Given the description of an element on the screen output the (x, y) to click on. 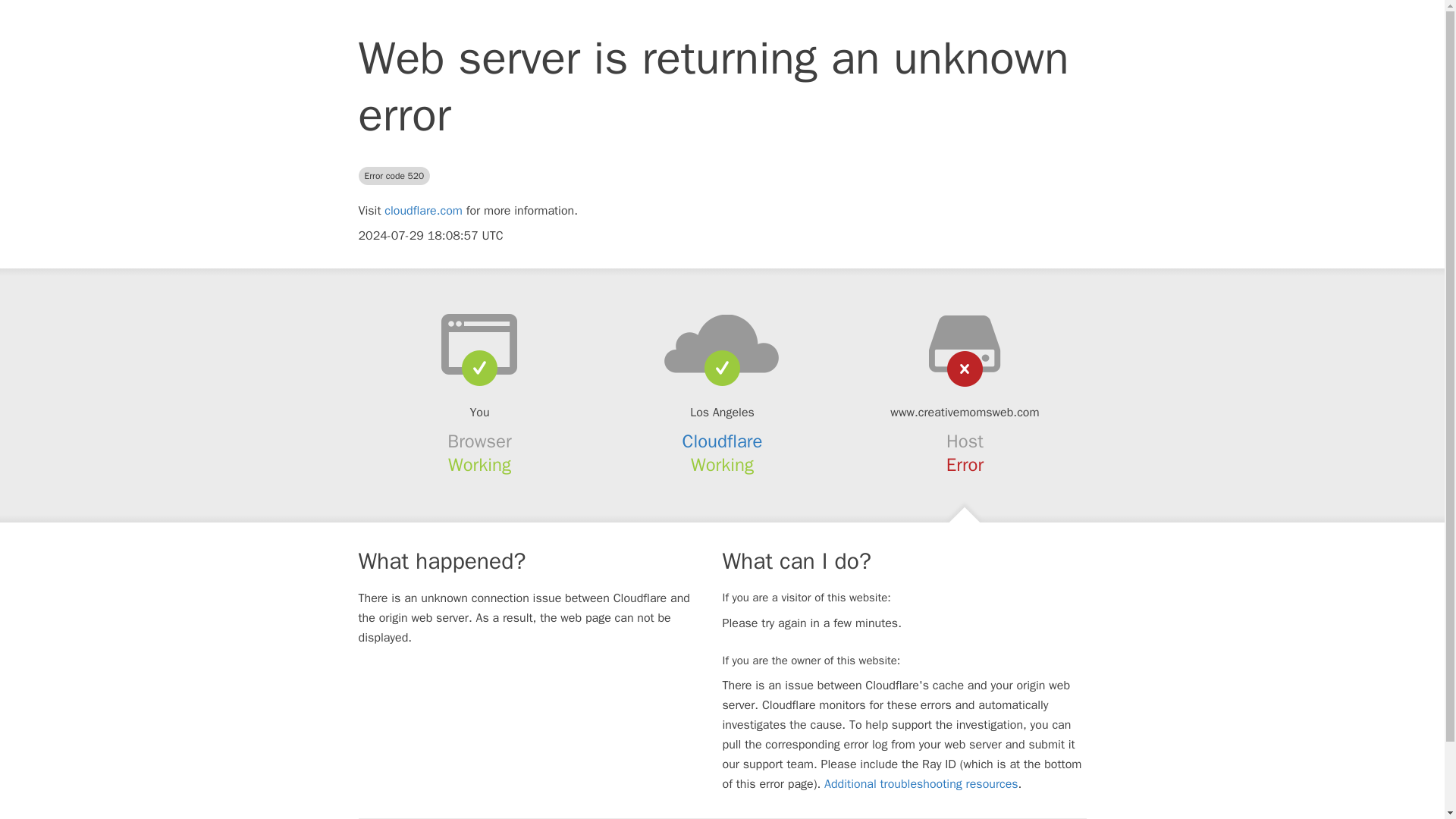
cloudflare.com (423, 210)
Cloudflare (722, 440)
Additional troubleshooting resources (920, 783)
